Given the description of an element on the screen output the (x, y) to click on. 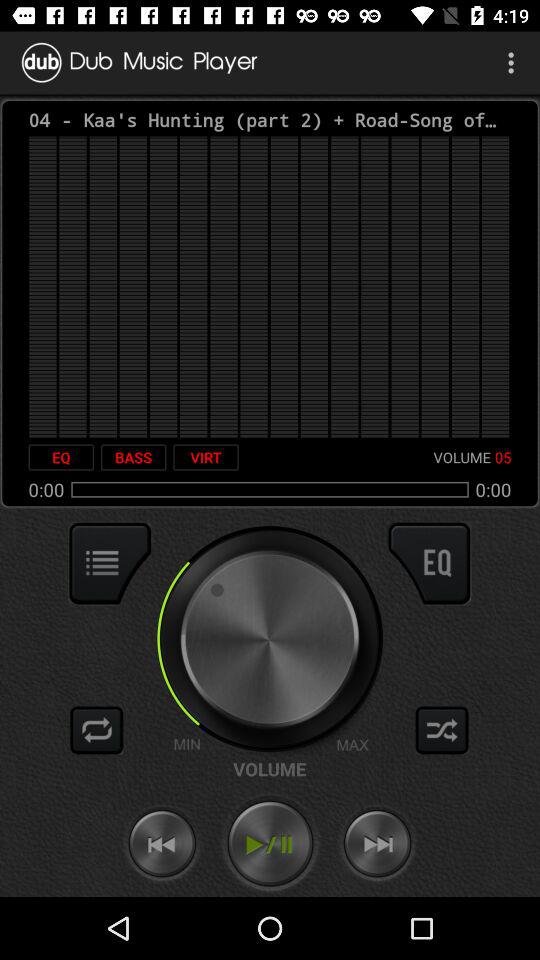
play/pause audio (269, 844)
